Given the description of an element on the screen output the (x, y) to click on. 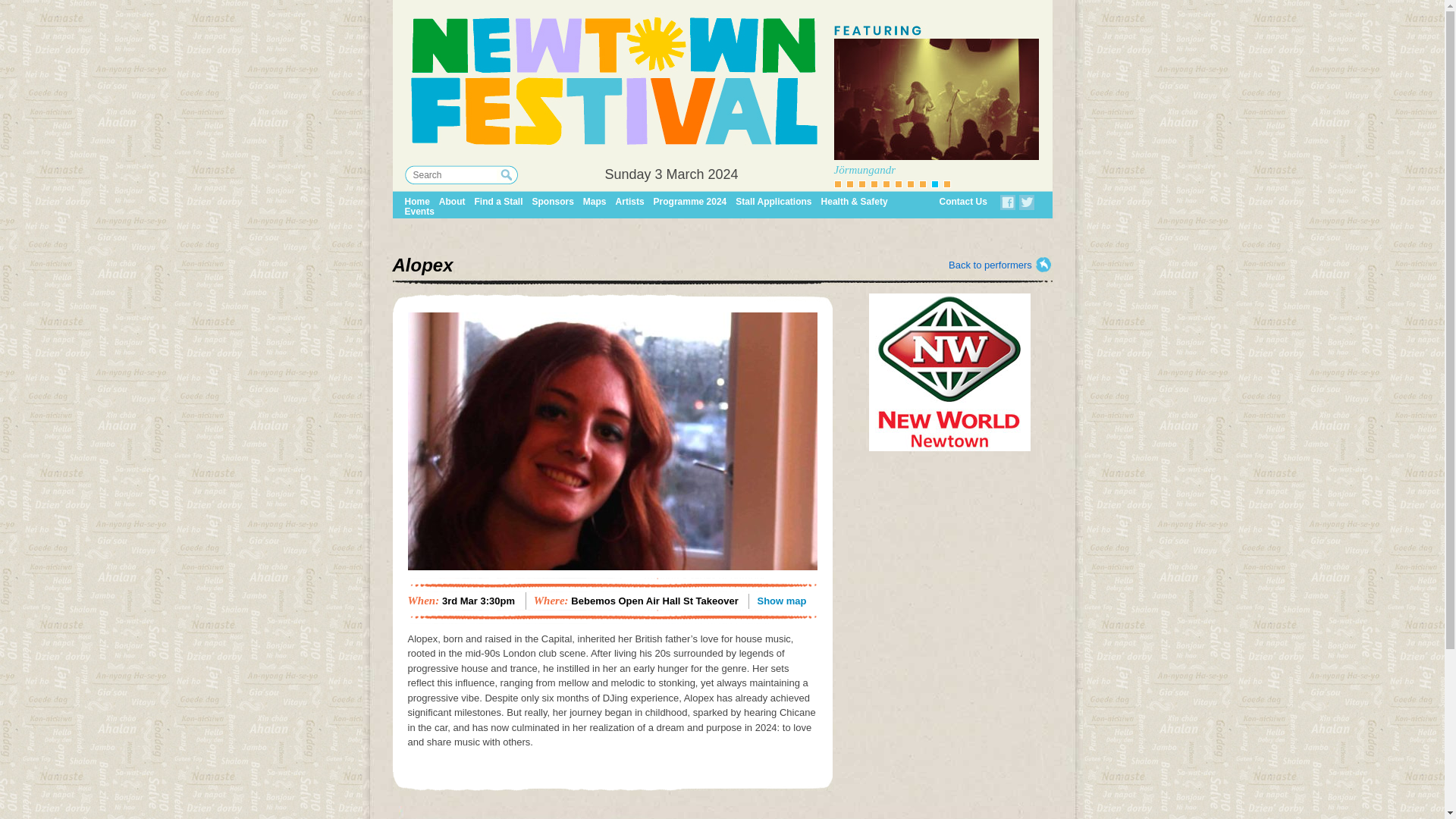
go (506, 174)
